Given the description of an element on the screen output the (x, y) to click on. 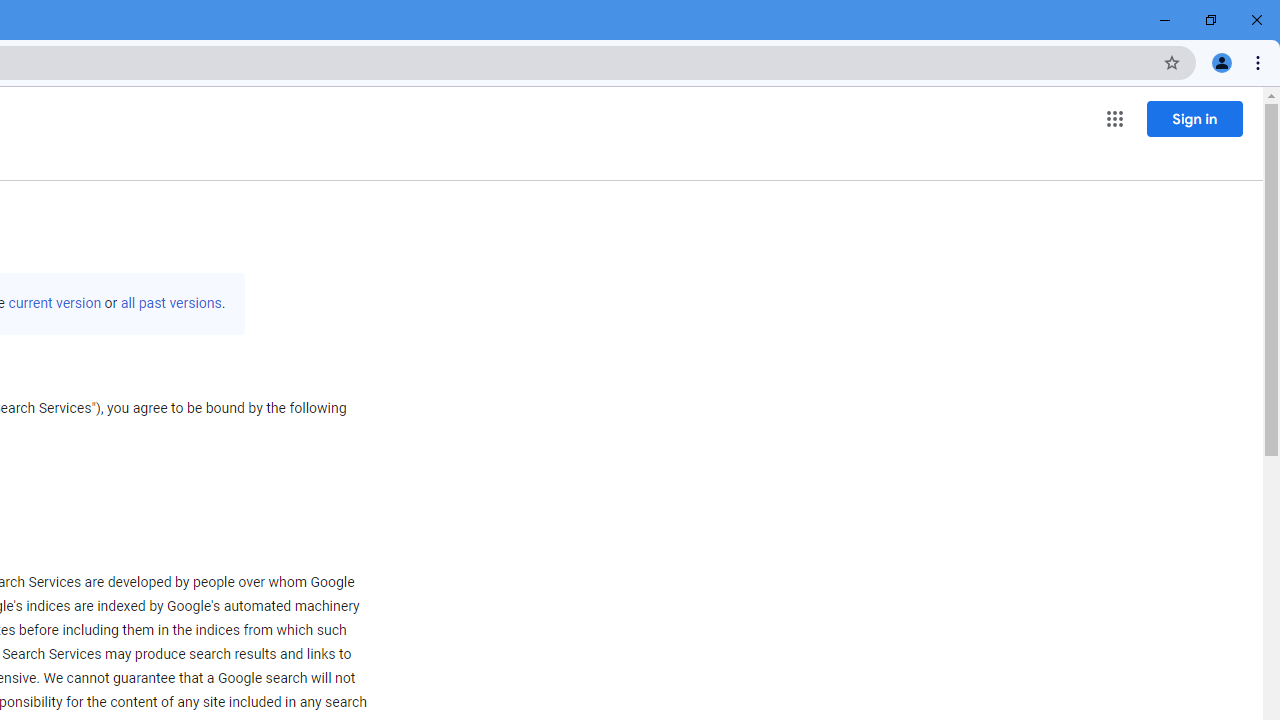
current version (54, 303)
all past versions (170, 303)
